Given the description of an element on the screen output the (x, y) to click on. 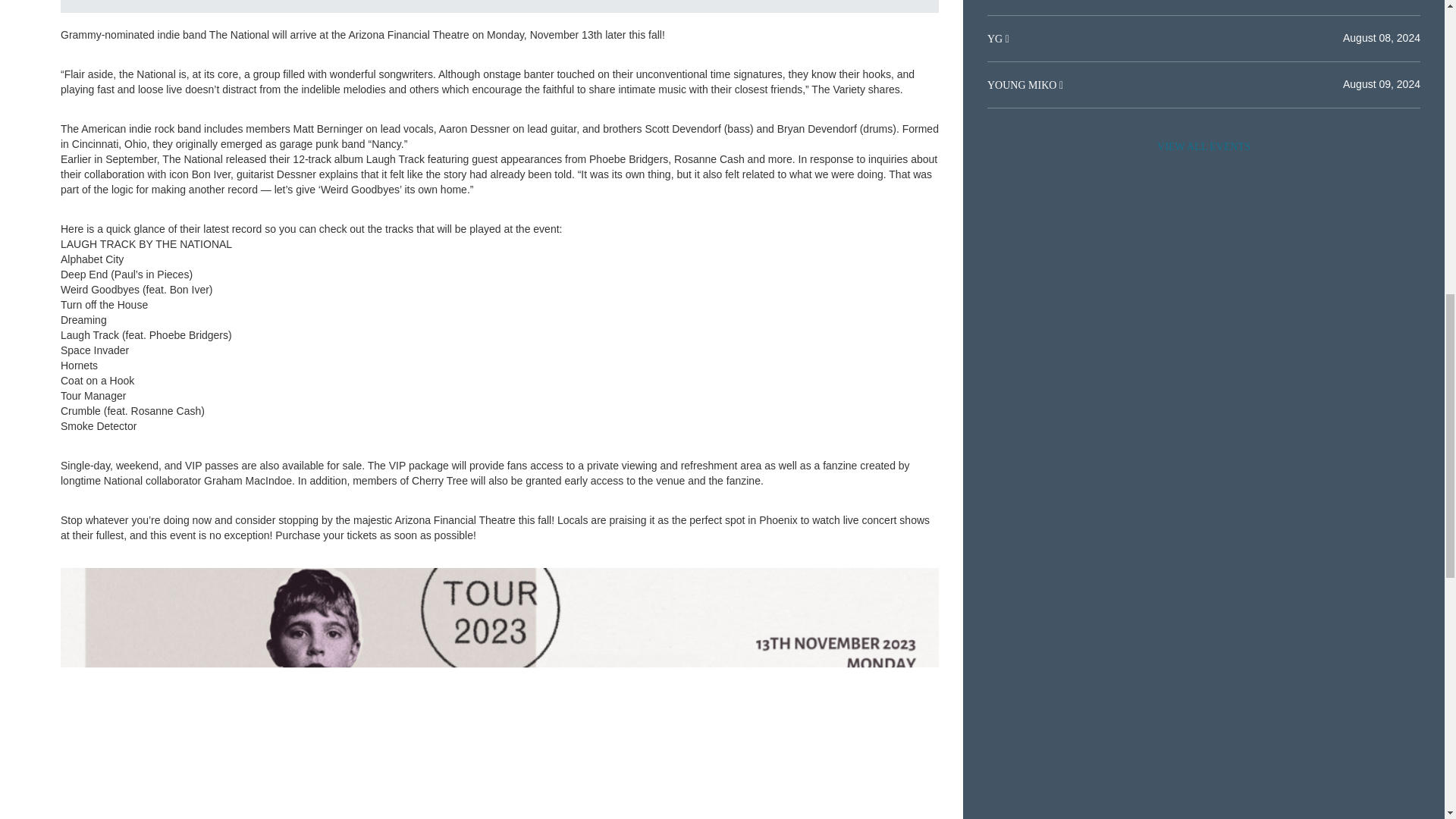
VIEW ALL EVENTS (1203, 146)
